Given the description of an element on the screen output the (x, y) to click on. 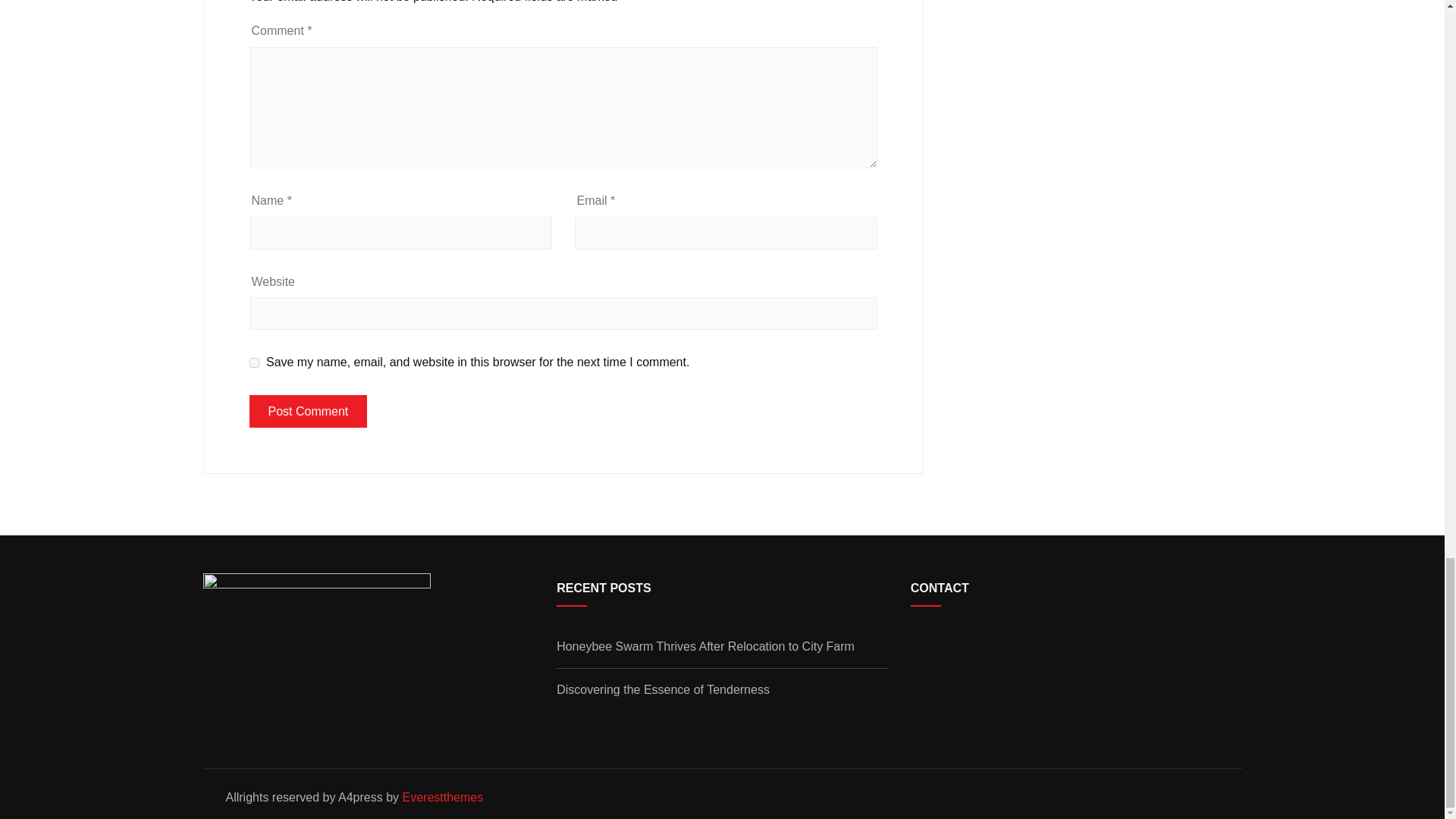
Post Comment (307, 411)
yes (253, 362)
Post Comment (307, 411)
